Given the description of an element on the screen output the (x, y) to click on. 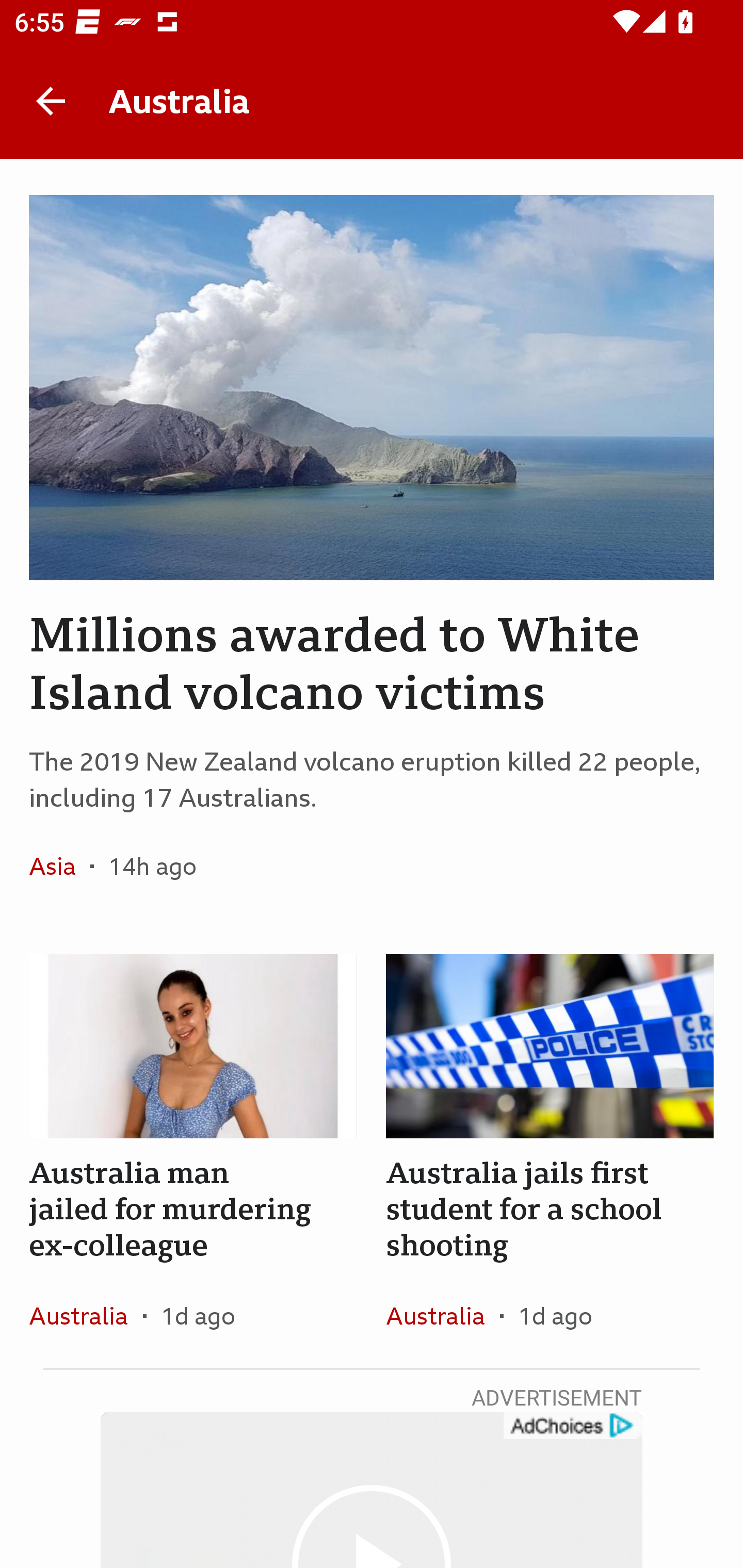
Back (50, 101)
Asia In the section Asia (59, 865)
Australia In the section Australia (85, 1315)
Australia In the section Australia (442, 1315)
Video Player get?name=admarker-full-tl   (371, 1489)
get?name=admarker-full-tl (571, 1425)
